Given the description of an element on the screen output the (x, y) to click on. 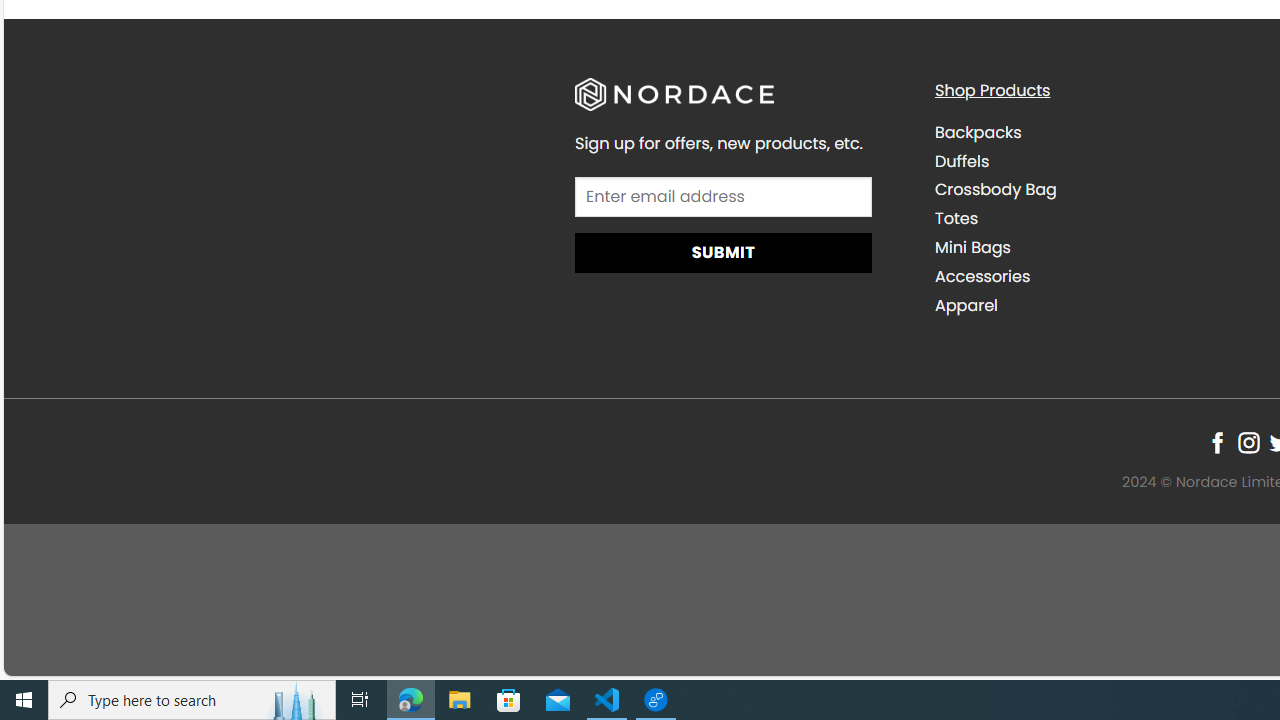
Crossbody Bag (995, 189)
AutomationID: input_4_1 (722, 196)
Duffels (1099, 161)
AutomationID: field_4_1 (722, 199)
